Given the description of an element on the screen output the (x, y) to click on. 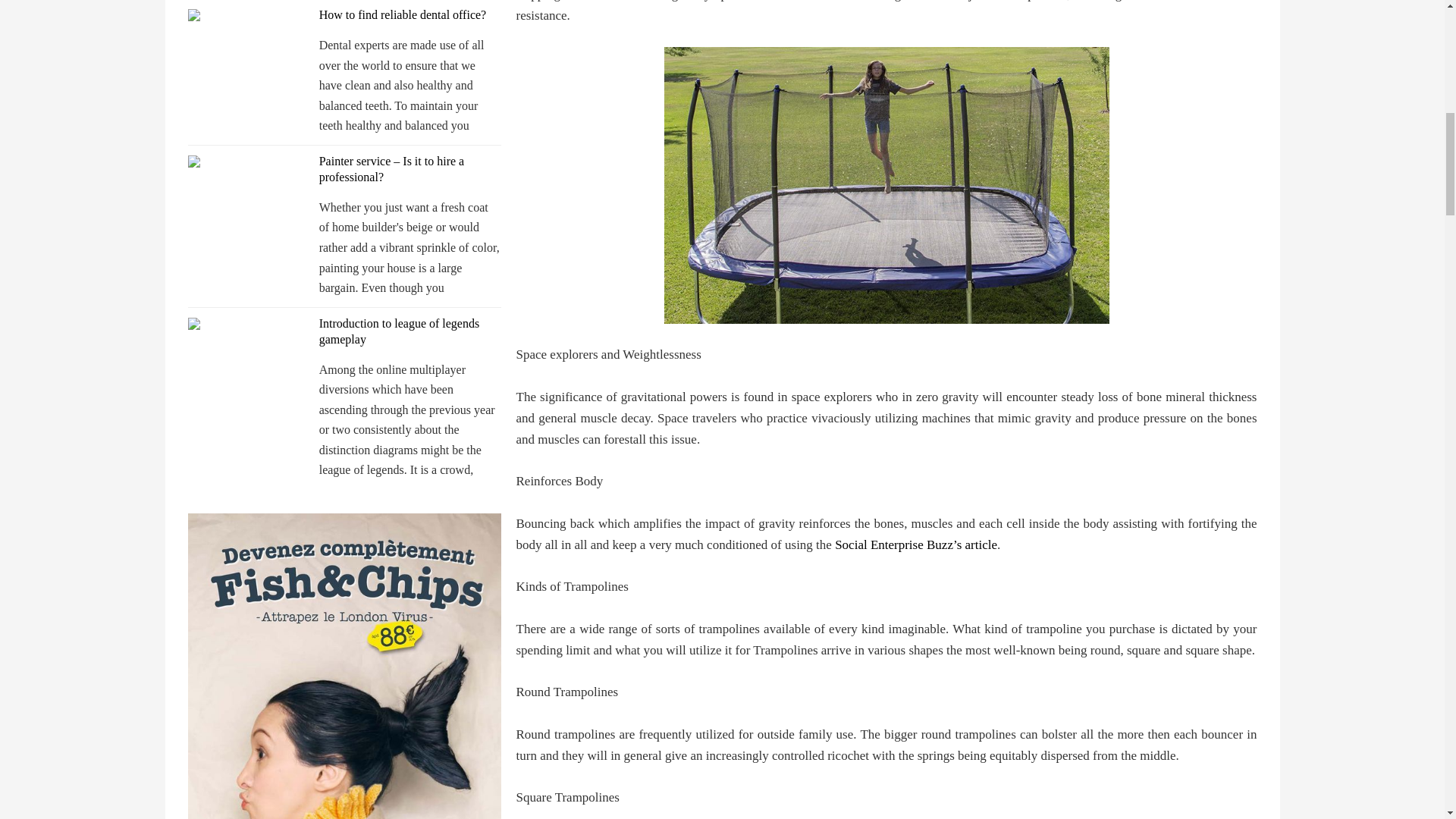
How to find reliable dental office? (402, 14)
Introduction to league of legends gameplay (399, 330)
